Given the description of an element on the screen output the (x, y) to click on. 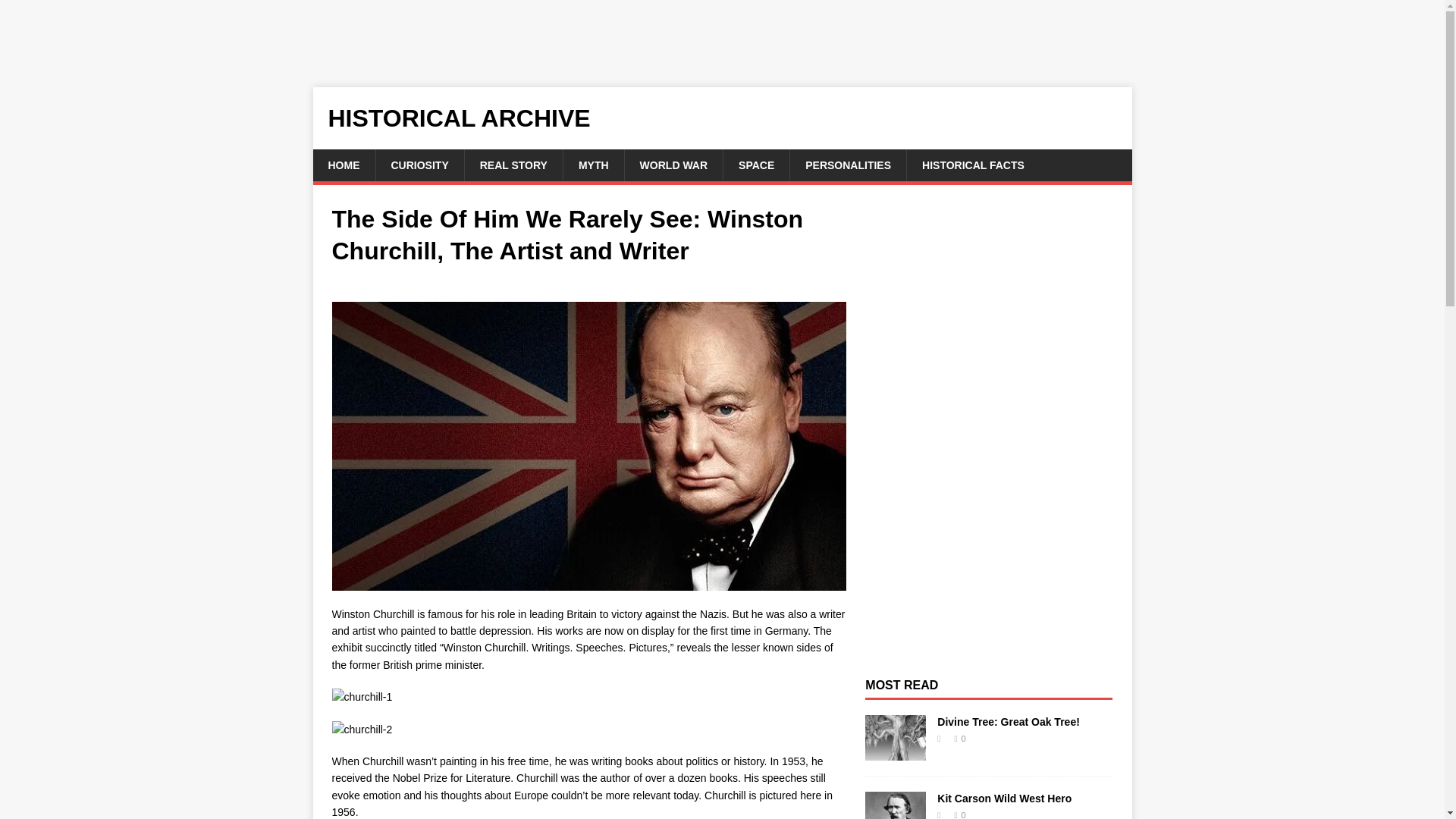
HISTORICAL FACTS (972, 164)
Kit Carson Wild West Hero (1004, 798)
WORLD WAR (673, 164)
MYTH (593, 164)
Divine Tree: Great Oak Tree! (1008, 721)
MOST READ (900, 684)
HISTORICAL ARCHIVE (721, 118)
SPACE (755, 164)
Historical Archive (721, 118)
Divine Tree: Great Oak Tree! (895, 752)
